Given the description of an element on the screen output the (x, y) to click on. 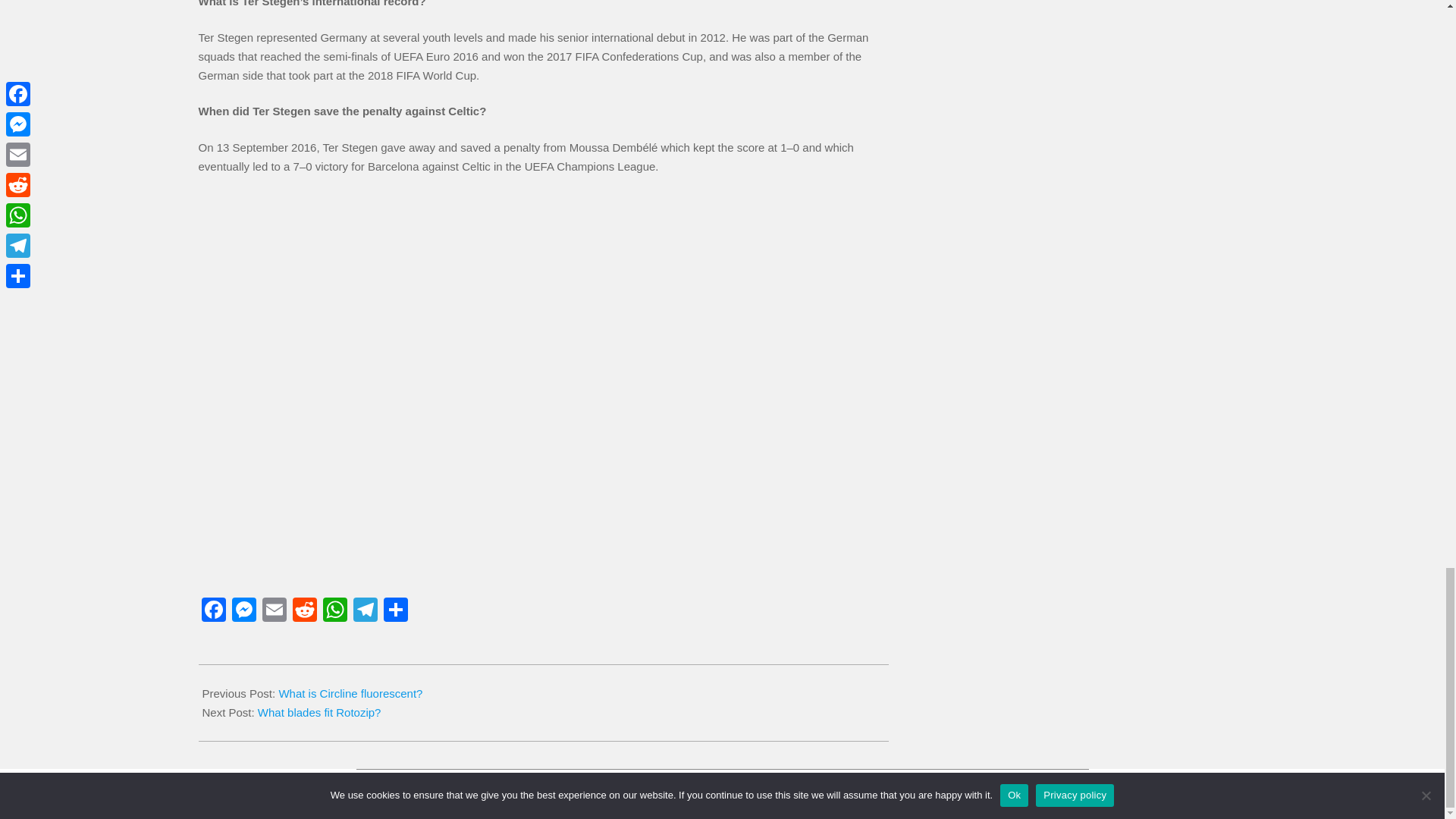
WhatsApp (335, 611)
Messenger (243, 611)
WhatsApp (335, 611)
Email (274, 611)
Telegram (365, 611)
Telegram (365, 611)
Email (274, 611)
Messenger (243, 611)
Facebook (213, 611)
Hoot Porto WordPress Theme (704, 790)
Reddit (304, 611)
Hoot Porto (704, 790)
WordPress (802, 790)
What blades fit Rotozip? (319, 712)
Facebook (213, 611)
